Given the description of an element on the screen output the (x, y) to click on. 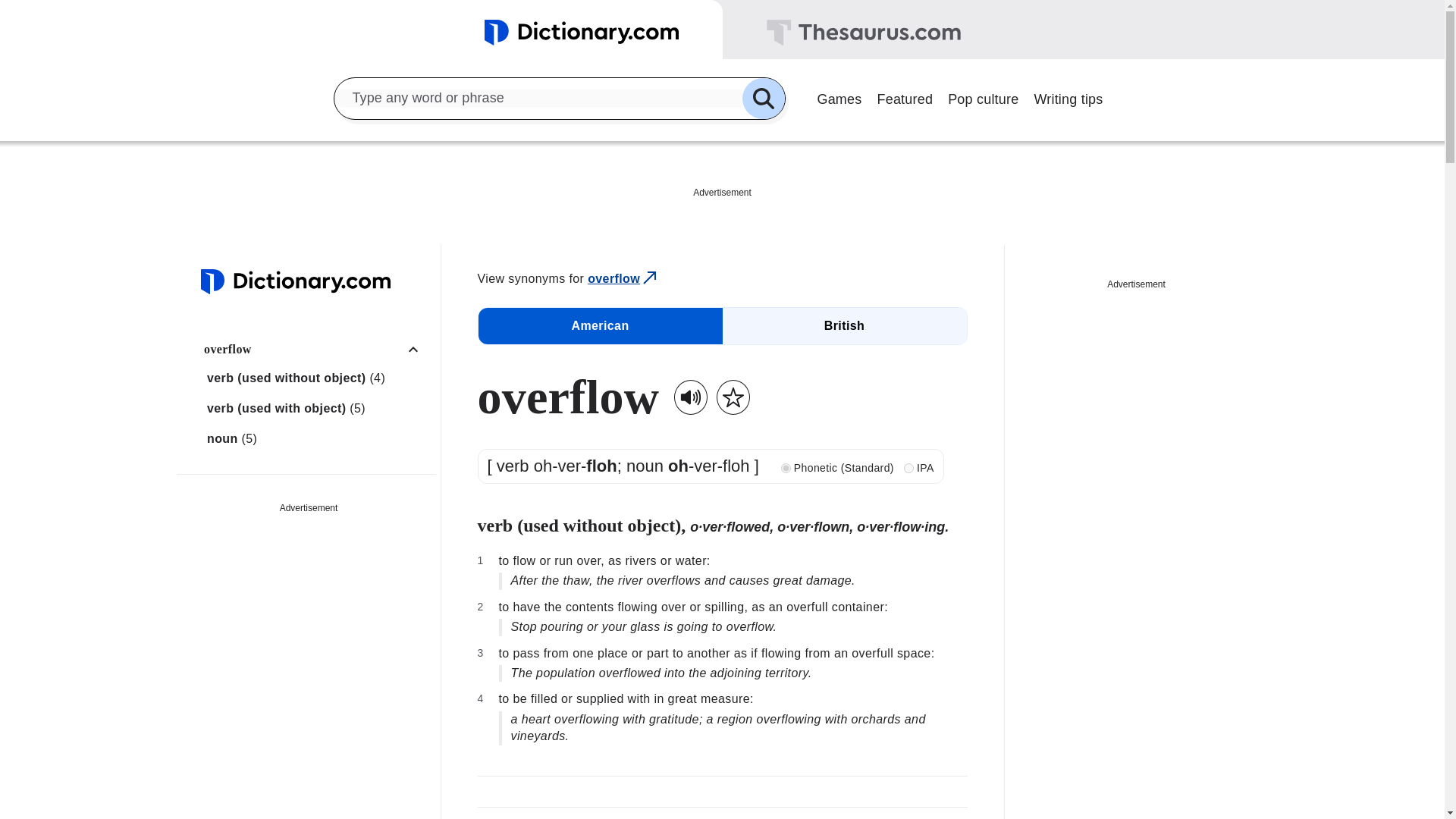
Writing tips (1067, 97)
Games (839, 97)
Featured (904, 97)
overflow (623, 279)
phonetic (785, 468)
overflow (316, 349)
British (844, 325)
American (599, 325)
Pop culture (983, 97)
ipa (909, 468)
